Given the description of an element on the screen output the (x, y) to click on. 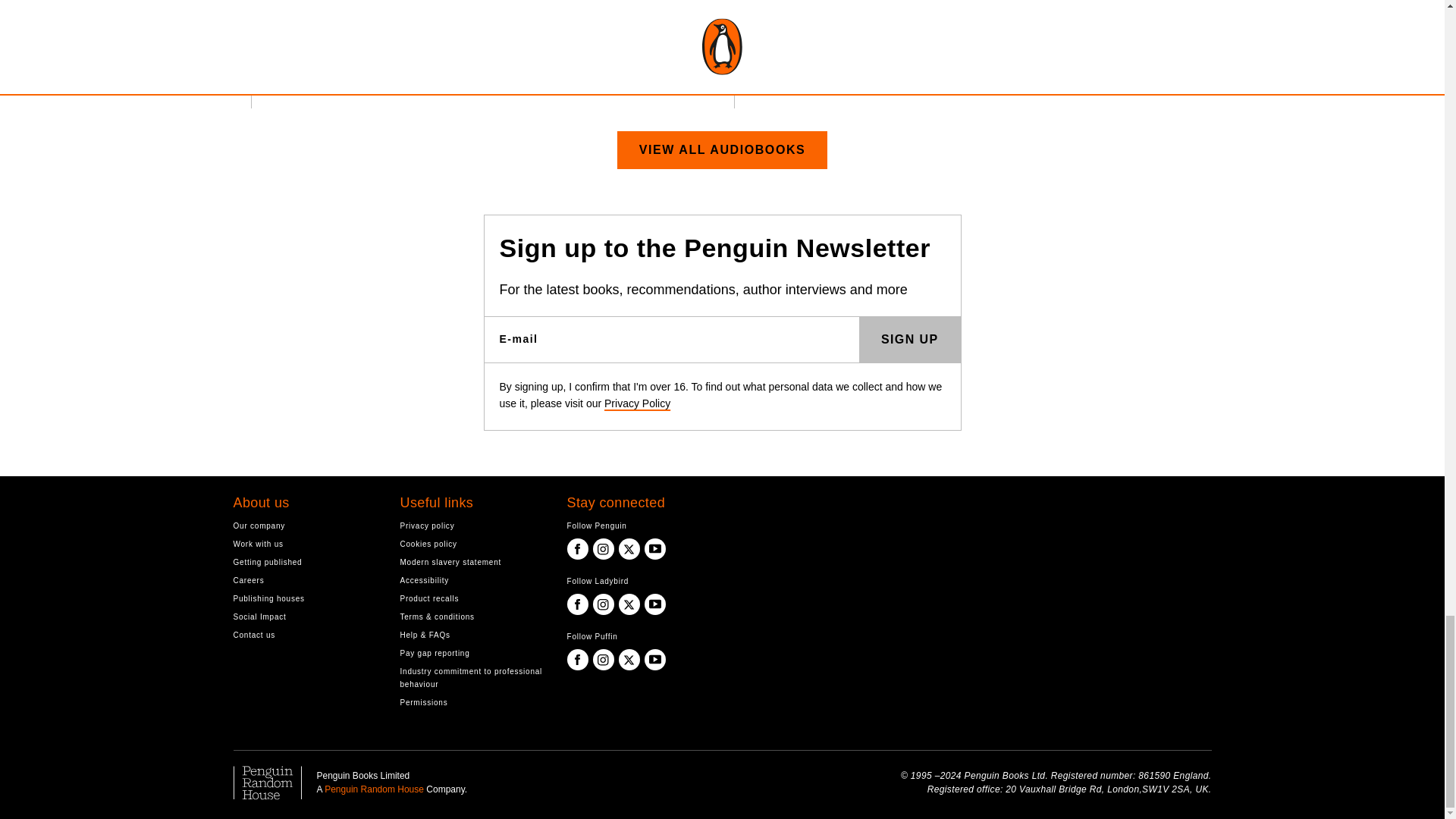
Publishing houses (304, 598)
Work with us (304, 543)
Our company (304, 525)
Modern slavery statement (472, 562)
Privacy Policy (636, 403)
Product recalls (472, 598)
Cookies policy (472, 543)
Accessibility (472, 580)
Privacy policy (472, 525)
SIGN UP (909, 339)
Getting published (304, 562)
Contact us (304, 634)
Social Impact (304, 616)
VIEW ALL AUDIOBOOKS (722, 149)
Pay gap reporting (472, 653)
